Given the description of an element on the screen output the (x, y) to click on. 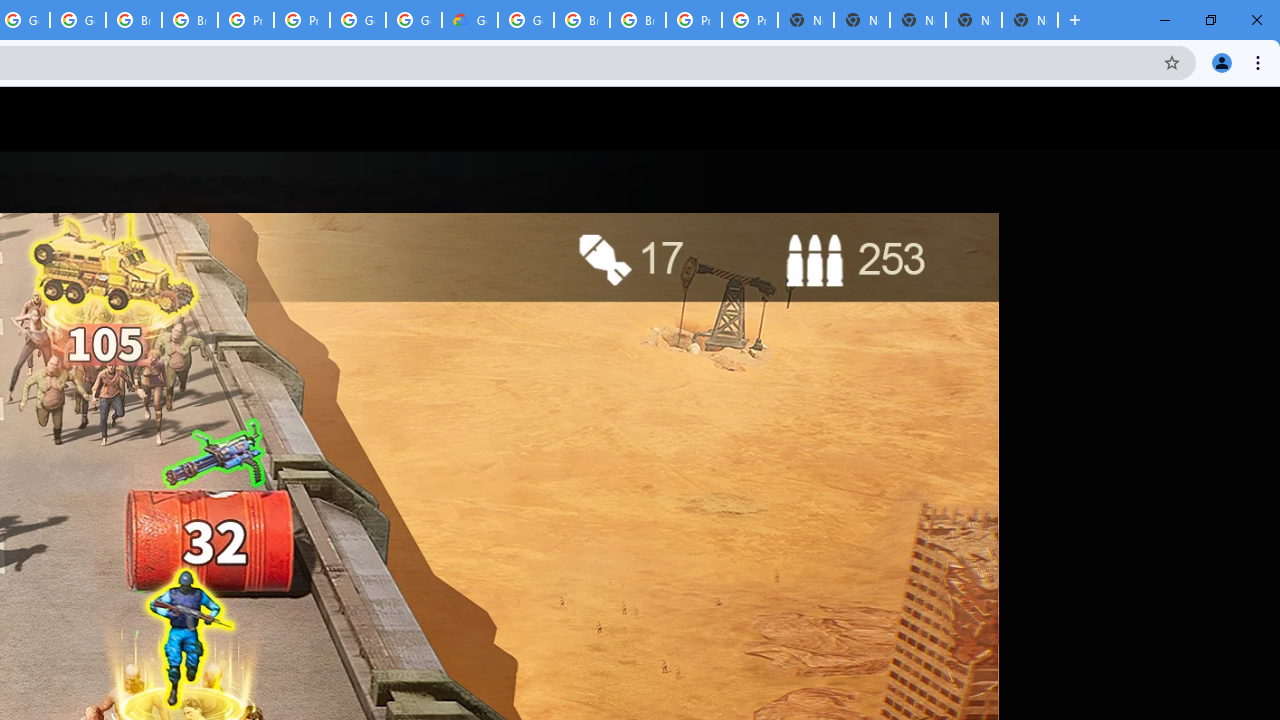
Browse Chrome as a guest - Computer - Google Chrome Help (637, 20)
Browse Chrome as a guest - Computer - Google Chrome Help (582, 20)
Google Cloud Platform (413, 20)
Google Cloud Platform (525, 20)
New Tab (1030, 20)
Browse Chrome as a guest - Computer - Google Chrome Help (134, 20)
